Given the description of an element on the screen output the (x, y) to click on. 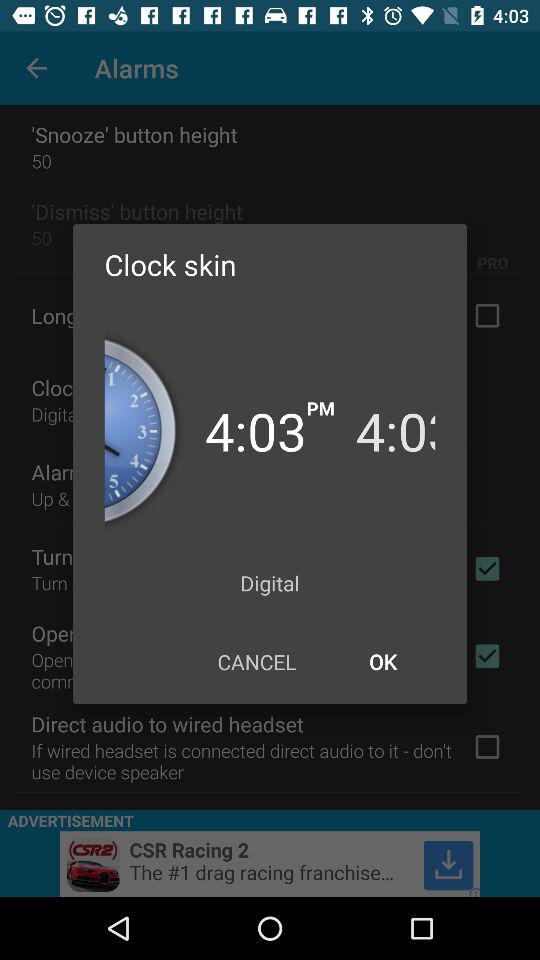
launch item at the bottom right corner (382, 661)
